Given the description of an element on the screen output the (x, y) to click on. 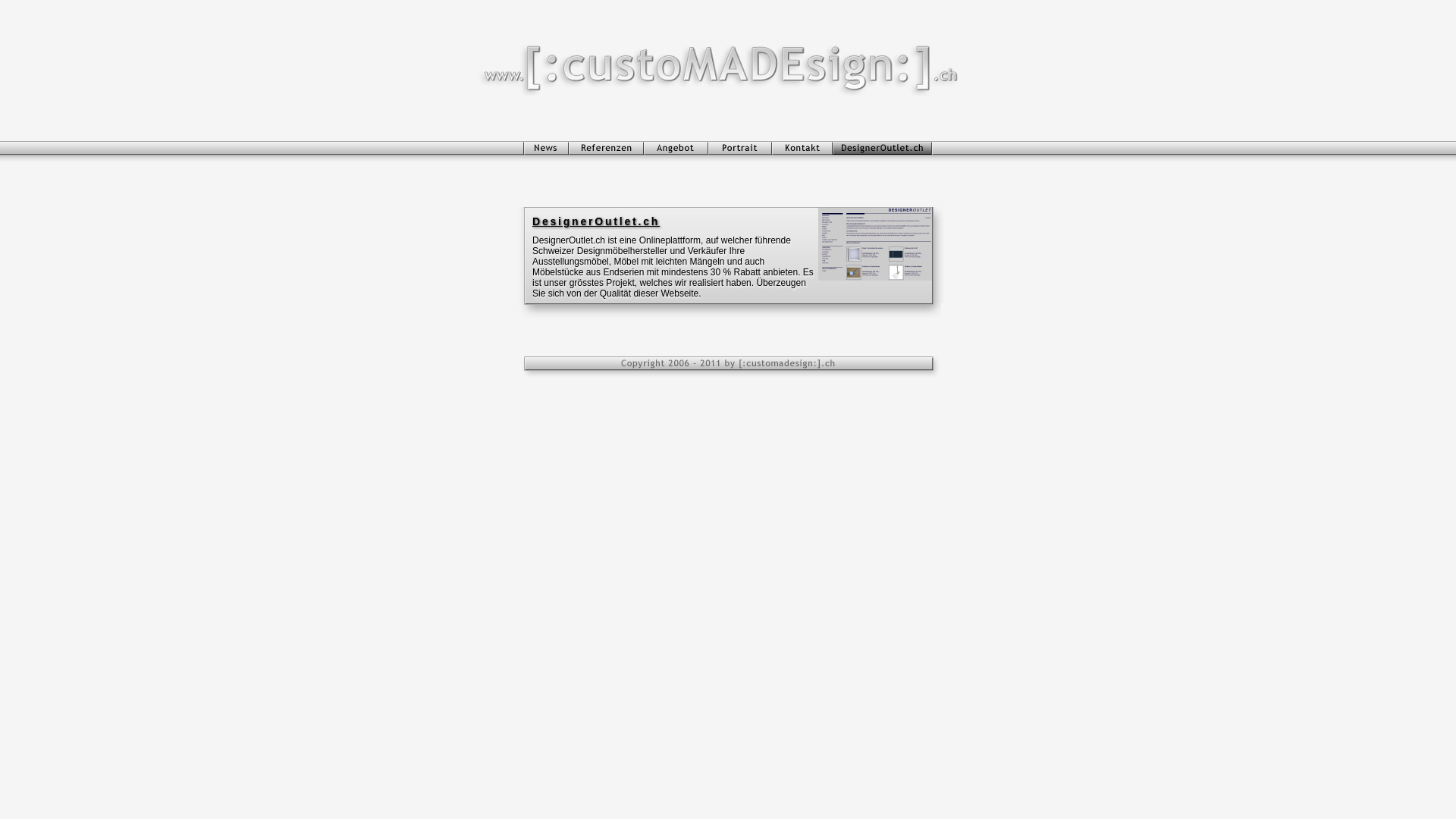
DesignerOutlet.ch Element type: text (728, 221)
